Given the description of an element on the screen output the (x, y) to click on. 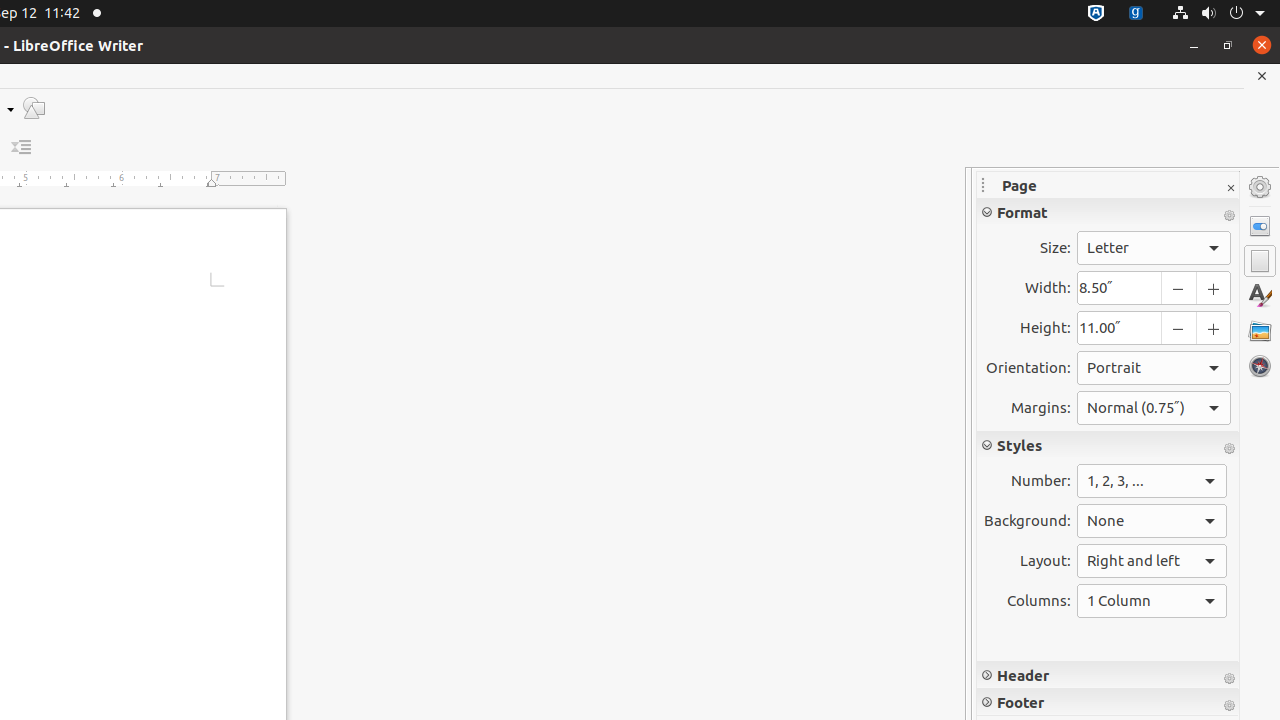
Margins: Element type: combo-box (1154, 407)
Layout: Element type: combo-box (1152, 561)
Decrease Element type: push-button (21, 147)
Close Sidebar Deck Element type: push-button (1230, 188)
